Given the description of an element on the screen output the (x, y) to click on. 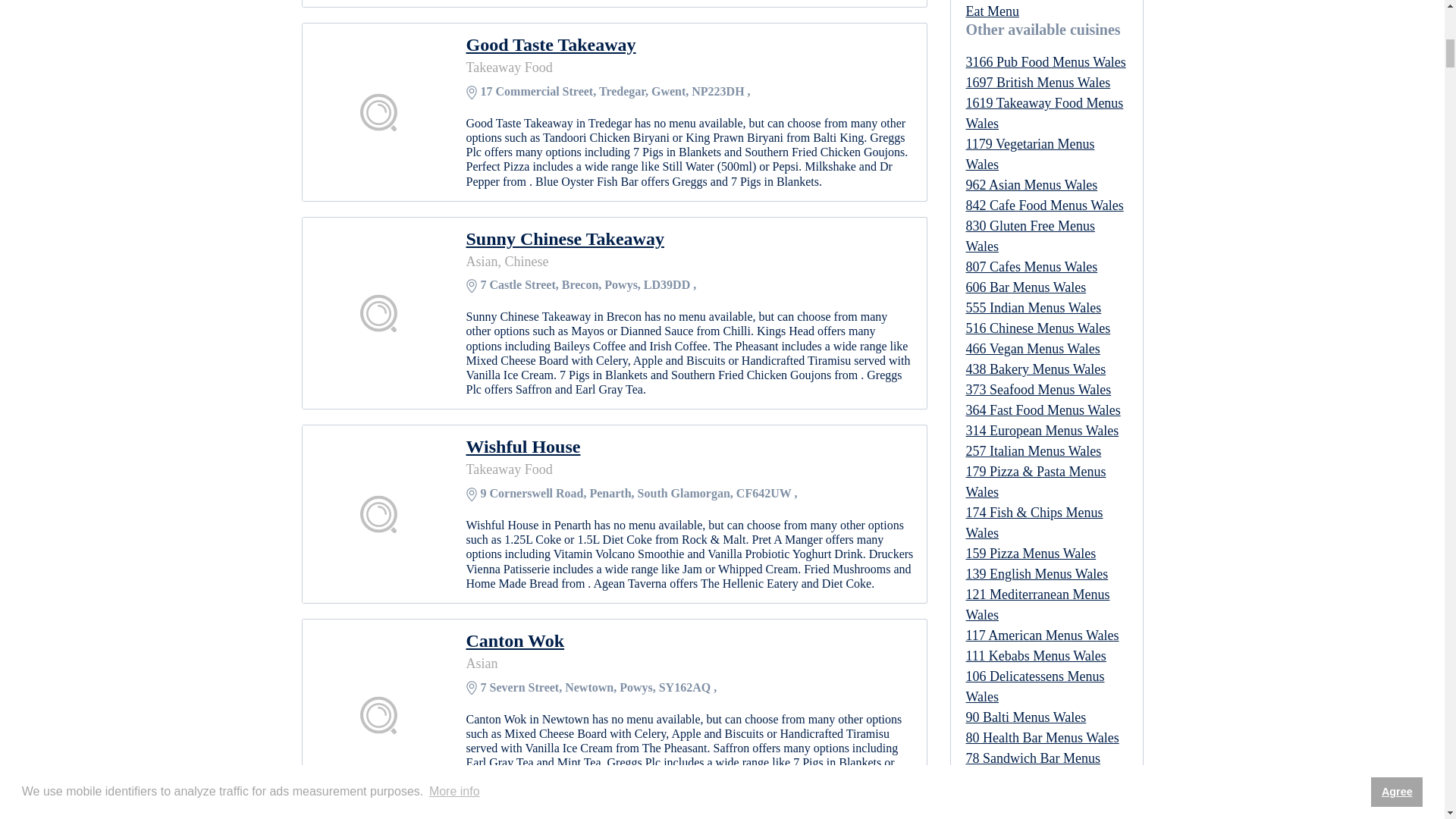
Good Taste Takeaway (689, 45)
Canton Wok (689, 640)
Sunny Chinese Takeaway (689, 239)
Wishful House (689, 446)
